Given the description of an element on the screen output the (x, y) to click on. 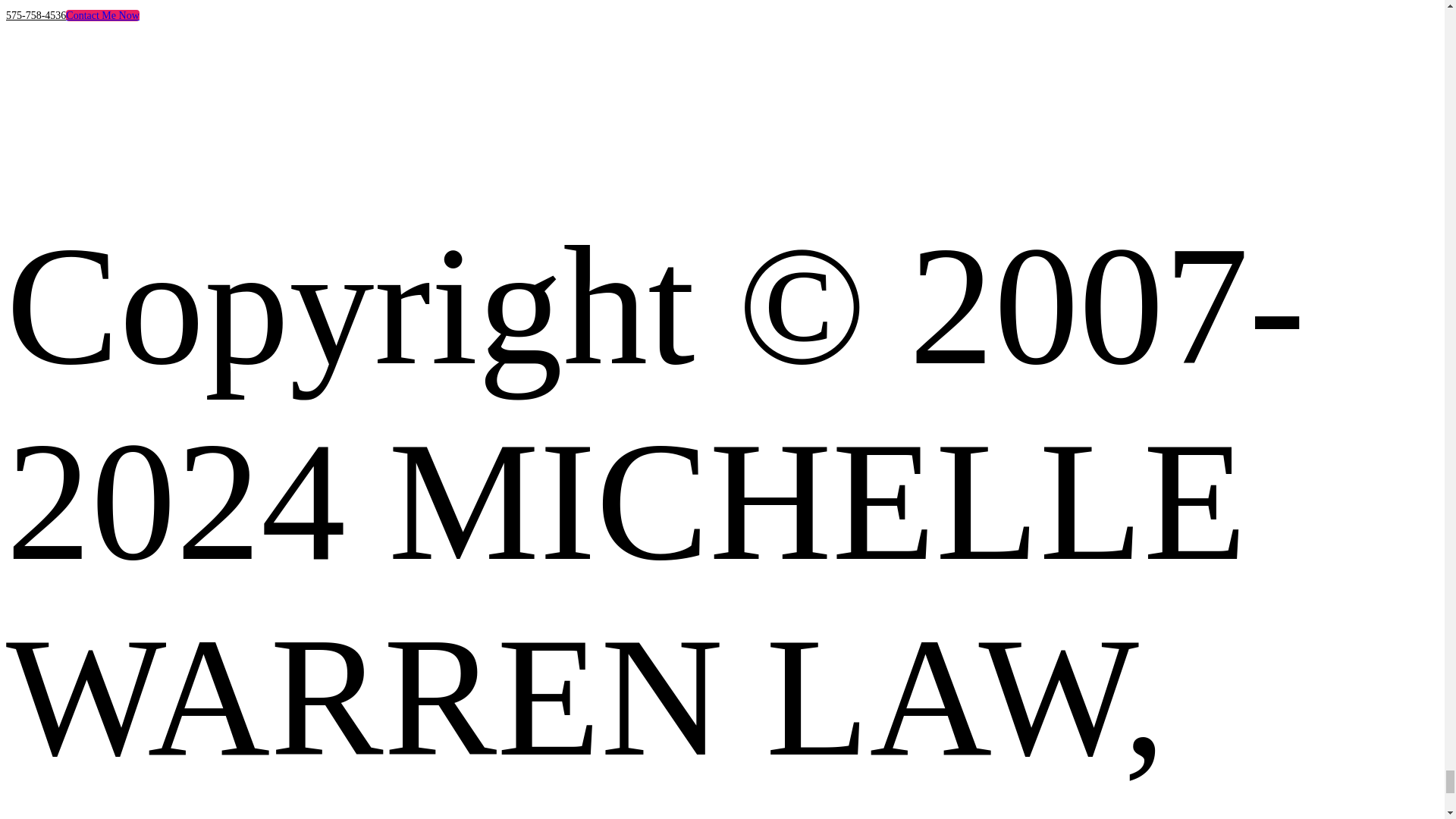
Contact Me Now (101, 15)
575-758-4536 (35, 15)
